Given the description of an element on the screen output the (x, y) to click on. 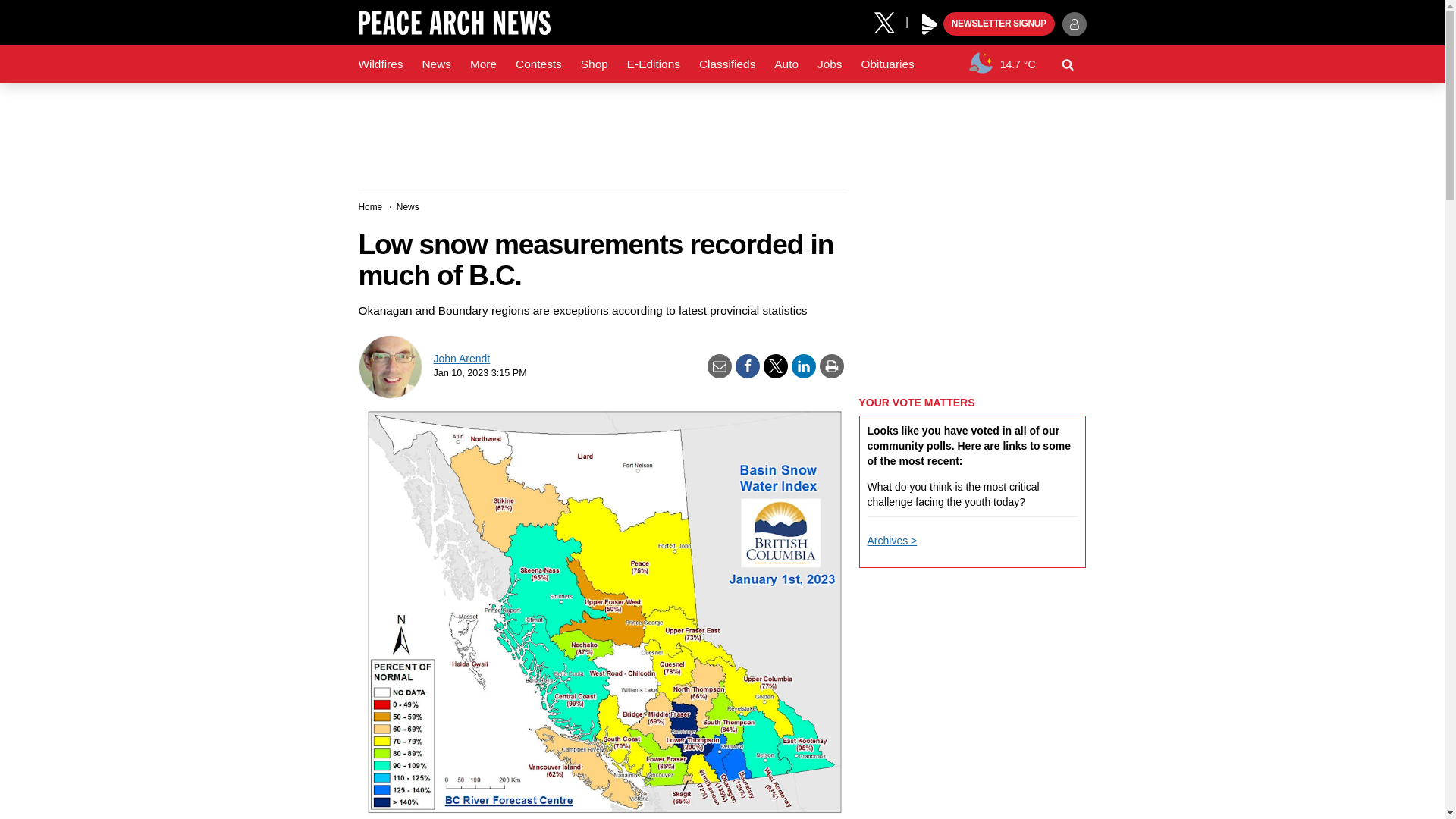
NEWSLETTER SIGNUP (998, 24)
News (435, 64)
X (889, 21)
Wildfires (380, 64)
Play (929, 24)
Black Press Media (929, 24)
